Given the description of an element on the screen output the (x, y) to click on. 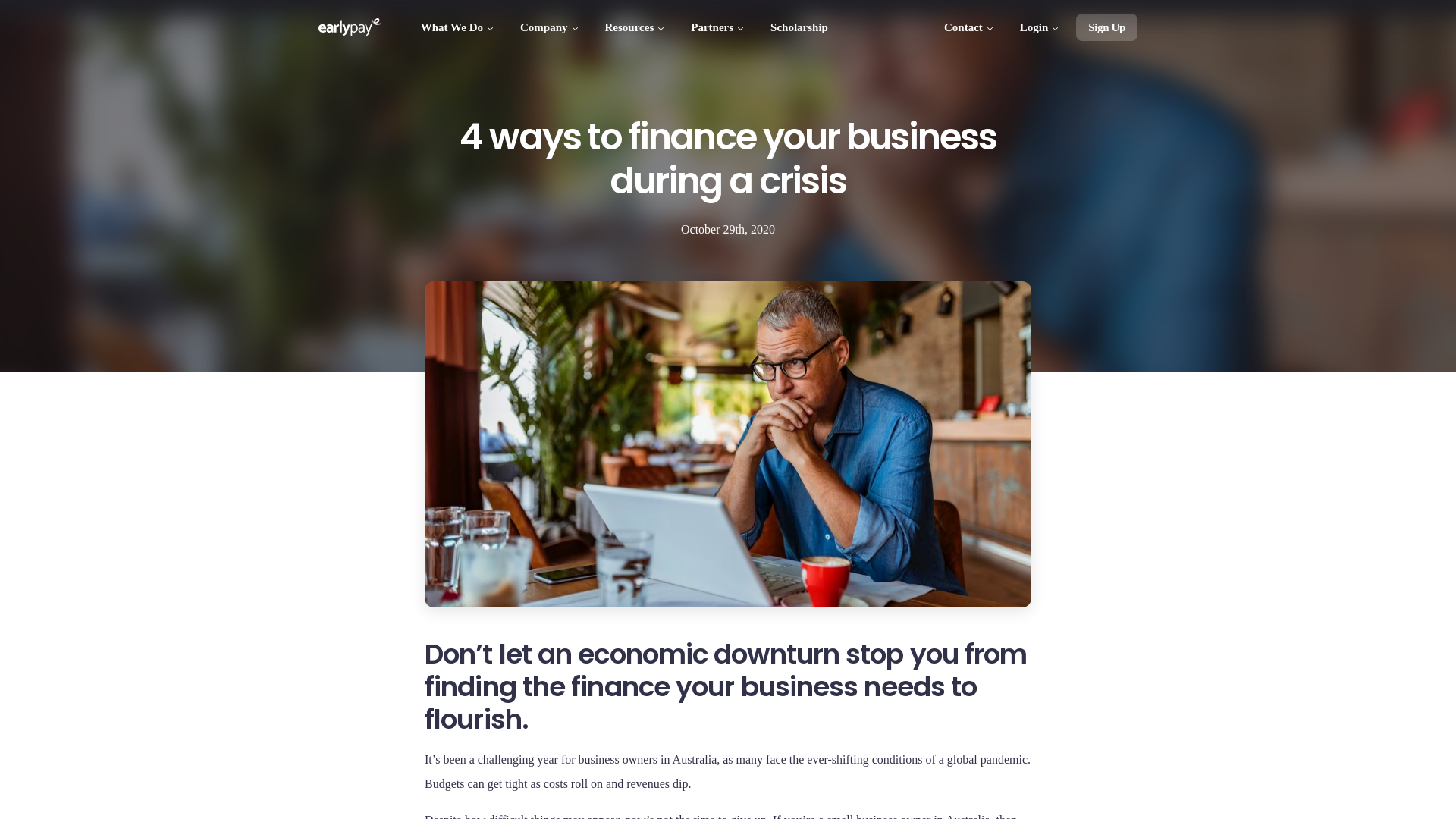
Partners Element type: text (718, 26)
Login Element type: text (1040, 26)
What We Do Element type: text (458, 26)
Sign Up Element type: text (1106, 26)
Contact Element type: text (969, 26)
Resources Element type: text (636, 26)
Earlypay Element type: text (349, 27)
Scholarship Element type: text (799, 26)
Company Element type: text (550, 26)
